Given the description of an element on the screen output the (x, y) to click on. 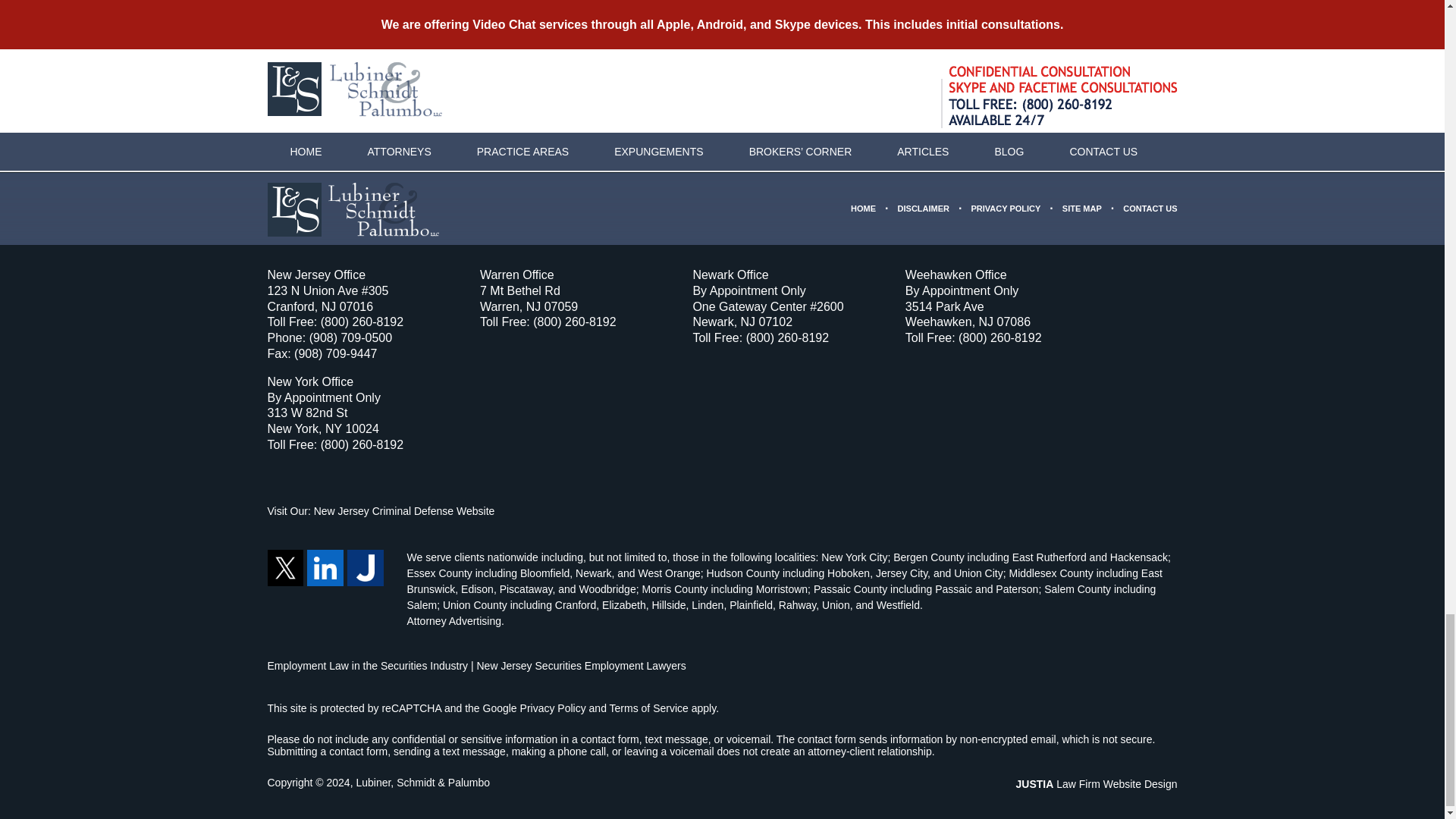
Justia (365, 567)
LinkedIn (325, 567)
Twitter (284, 567)
